Given the description of an element on the screen output the (x, y) to click on. 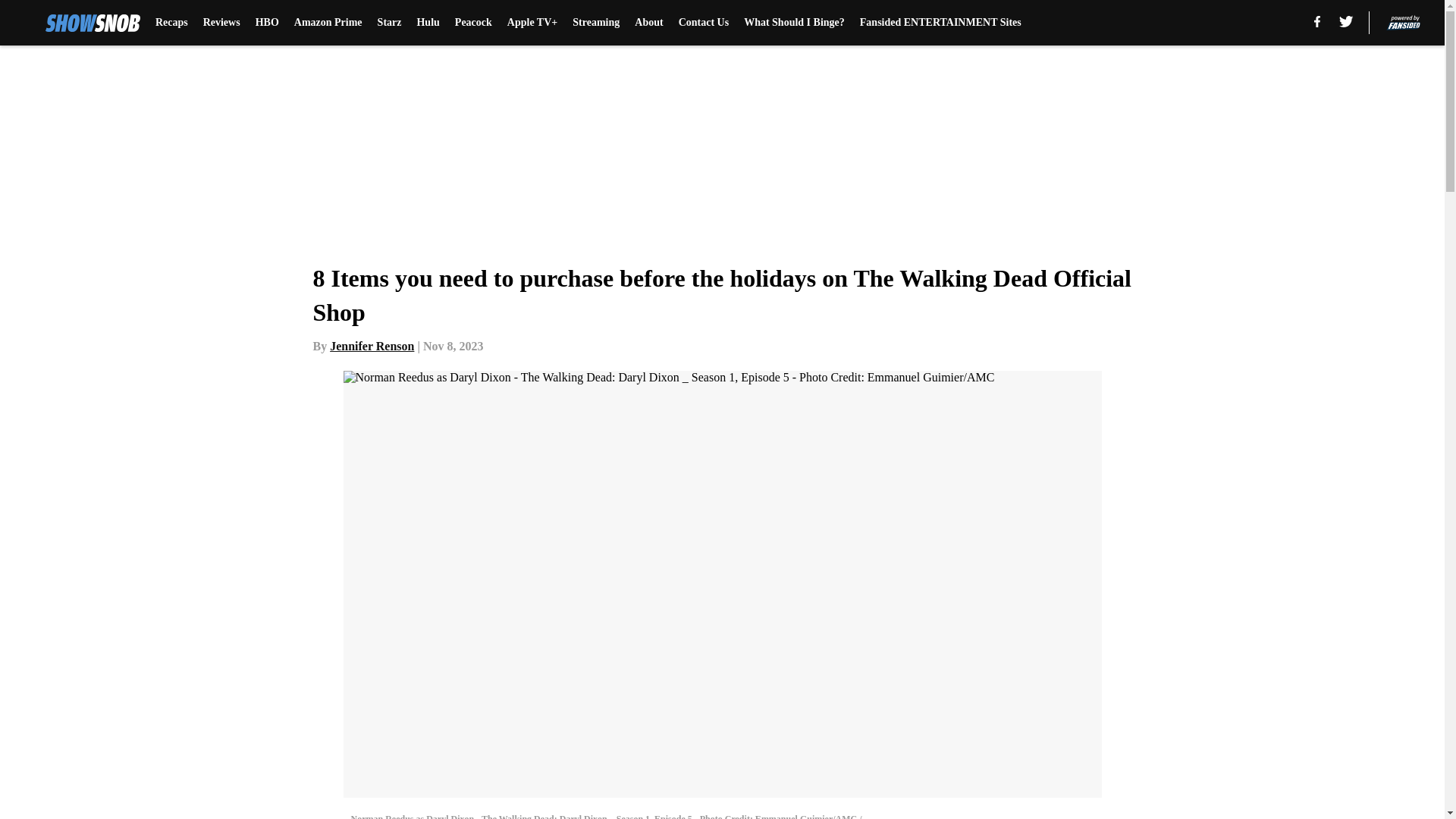
Amazon Prime (328, 22)
Starz (389, 22)
Streaming (596, 22)
Recaps (171, 22)
Contact Us (703, 22)
What Should I Binge? (794, 22)
About (648, 22)
Peacock (473, 22)
Fansided ENTERTAINMENT Sites (941, 22)
HBO (267, 22)
